Given the description of an element on the screen output the (x, y) to click on. 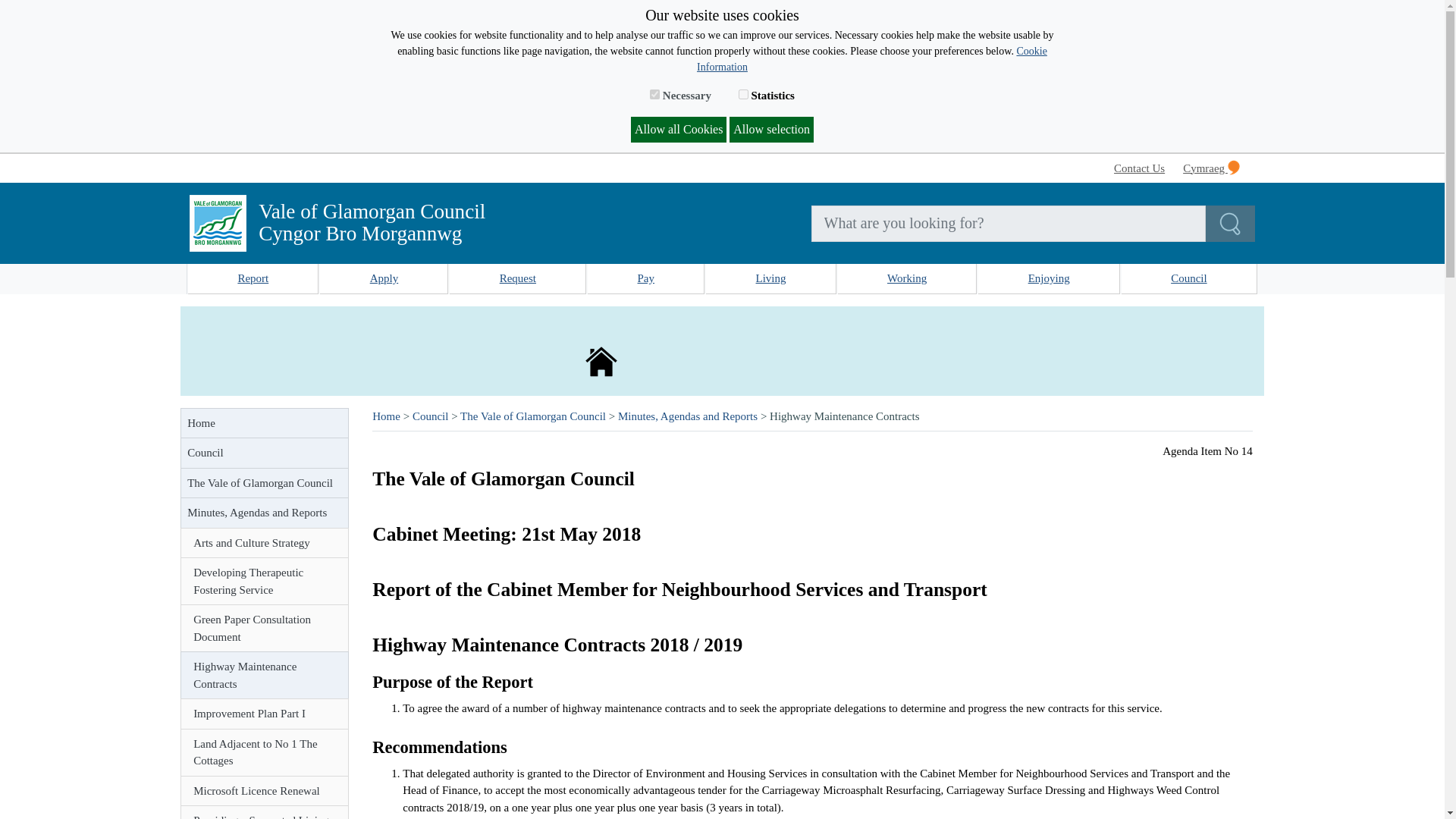
Cookie Information (871, 58)
on (654, 94)
Allow all Cookies (678, 129)
Learn More (871, 58)
Allow all Cookies (678, 129)
Allow selection (771, 129)
on (743, 94)
Allow selection (771, 129)
